Given the description of an element on the screen output the (x, y) to click on. 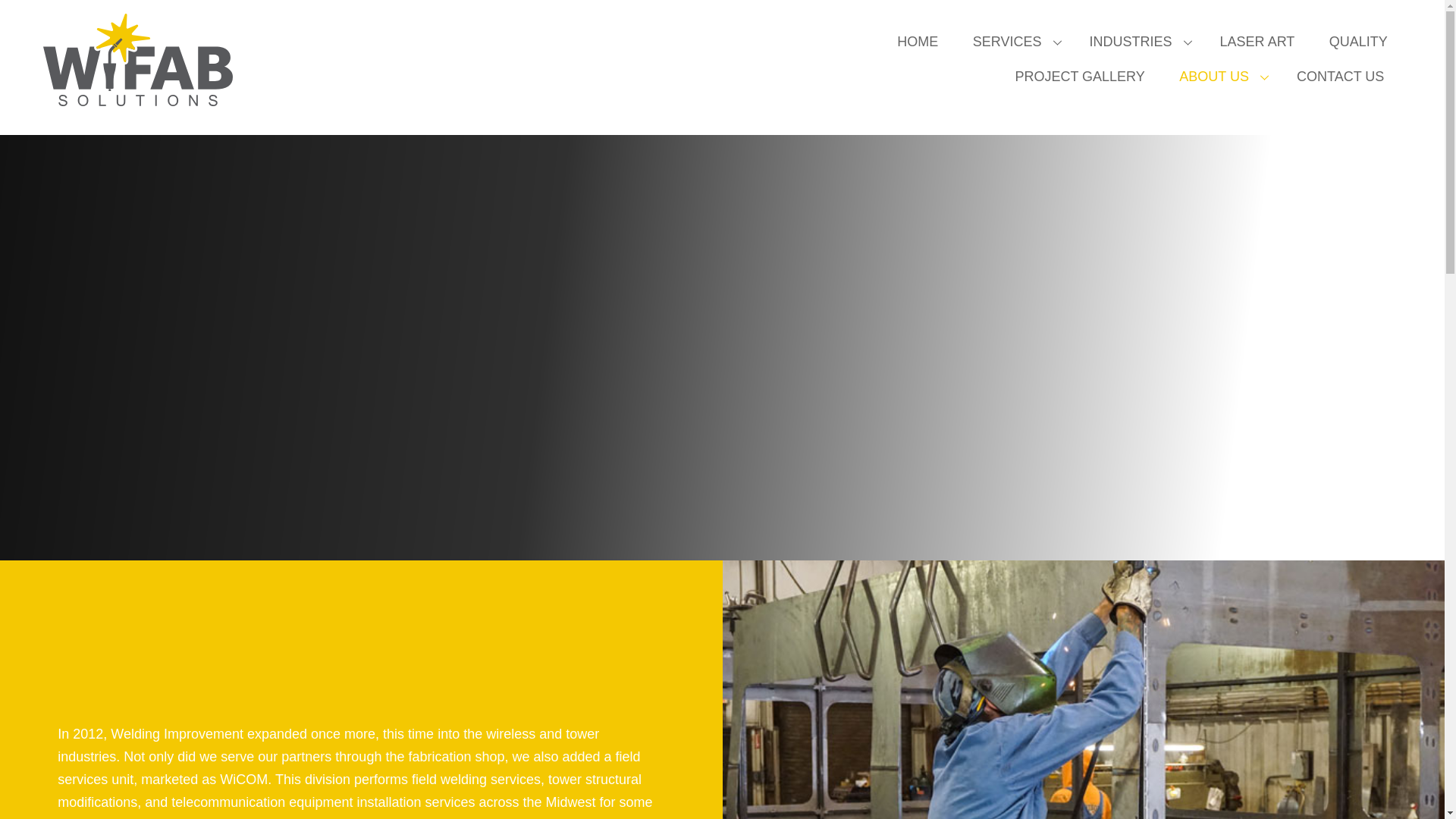
LASER ART (1256, 42)
QUALITY (1358, 42)
CONTACT US (1339, 77)
PROJECT GALLERY (1079, 77)
ABOUT US (1220, 77)
INDUSTRIES (1136, 42)
HOME (917, 42)
SERVICES (1013, 42)
